Given the description of an element on the screen output the (x, y) to click on. 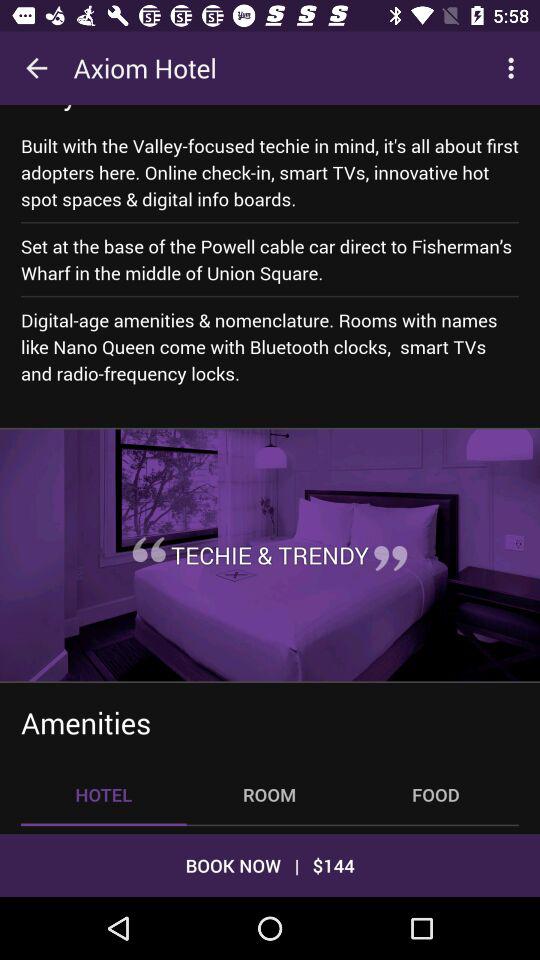
select the item next to axiom hotel (513, 67)
